Given the description of an element on the screen output the (x, y) to click on. 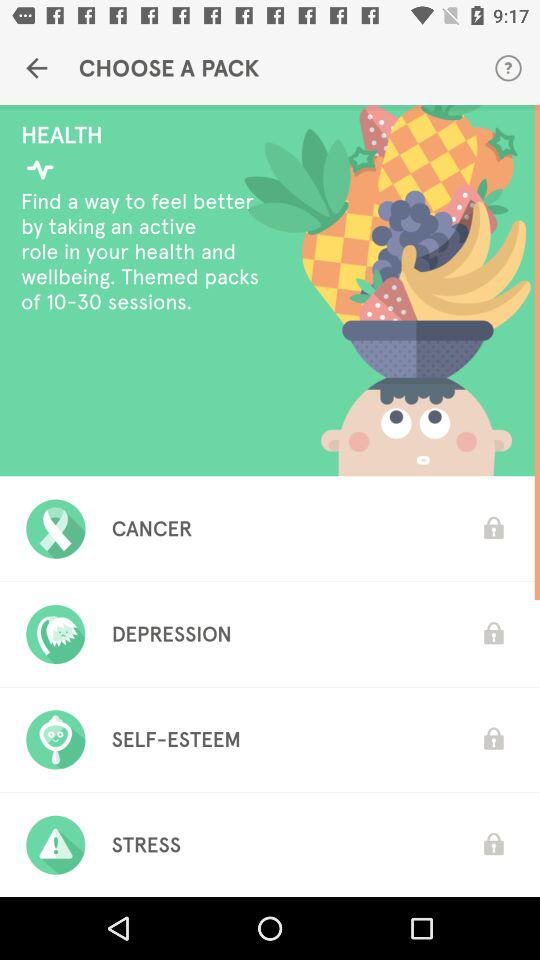
select item next to choose a pack (36, 68)
